Given the description of an element on the screen output the (x, y) to click on. 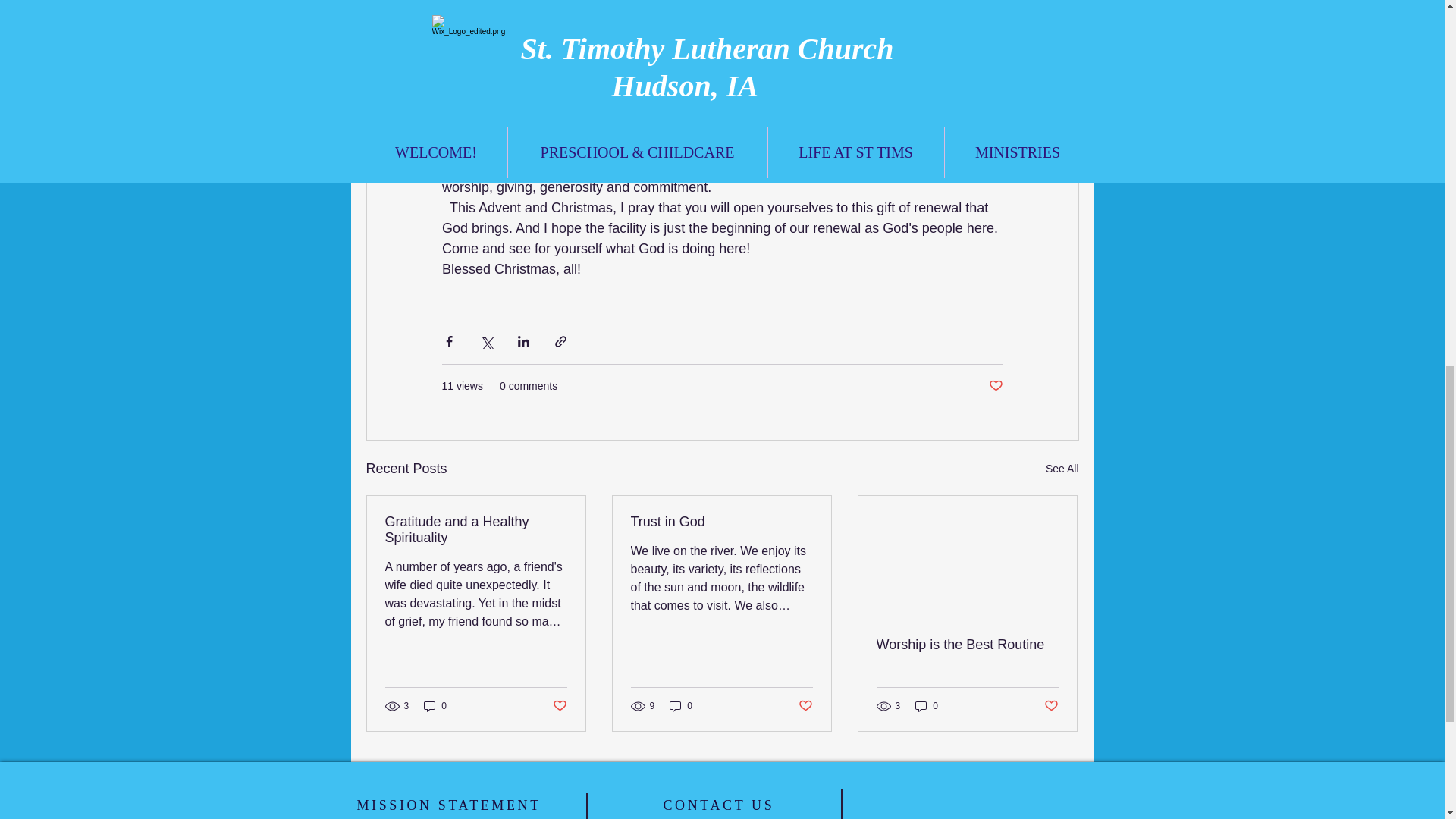
See All (1061, 468)
Gratitude and a Healthy Spirituality (476, 530)
Post not marked as liked (804, 705)
0 (926, 706)
0 (681, 706)
0 (435, 706)
Post not marked as liked (1050, 705)
Trust in God (721, 521)
Post not marked as liked (558, 705)
Worship is the Best Routine (967, 644)
Post not marked as liked (995, 385)
